Given the description of an element on the screen output the (x, y) to click on. 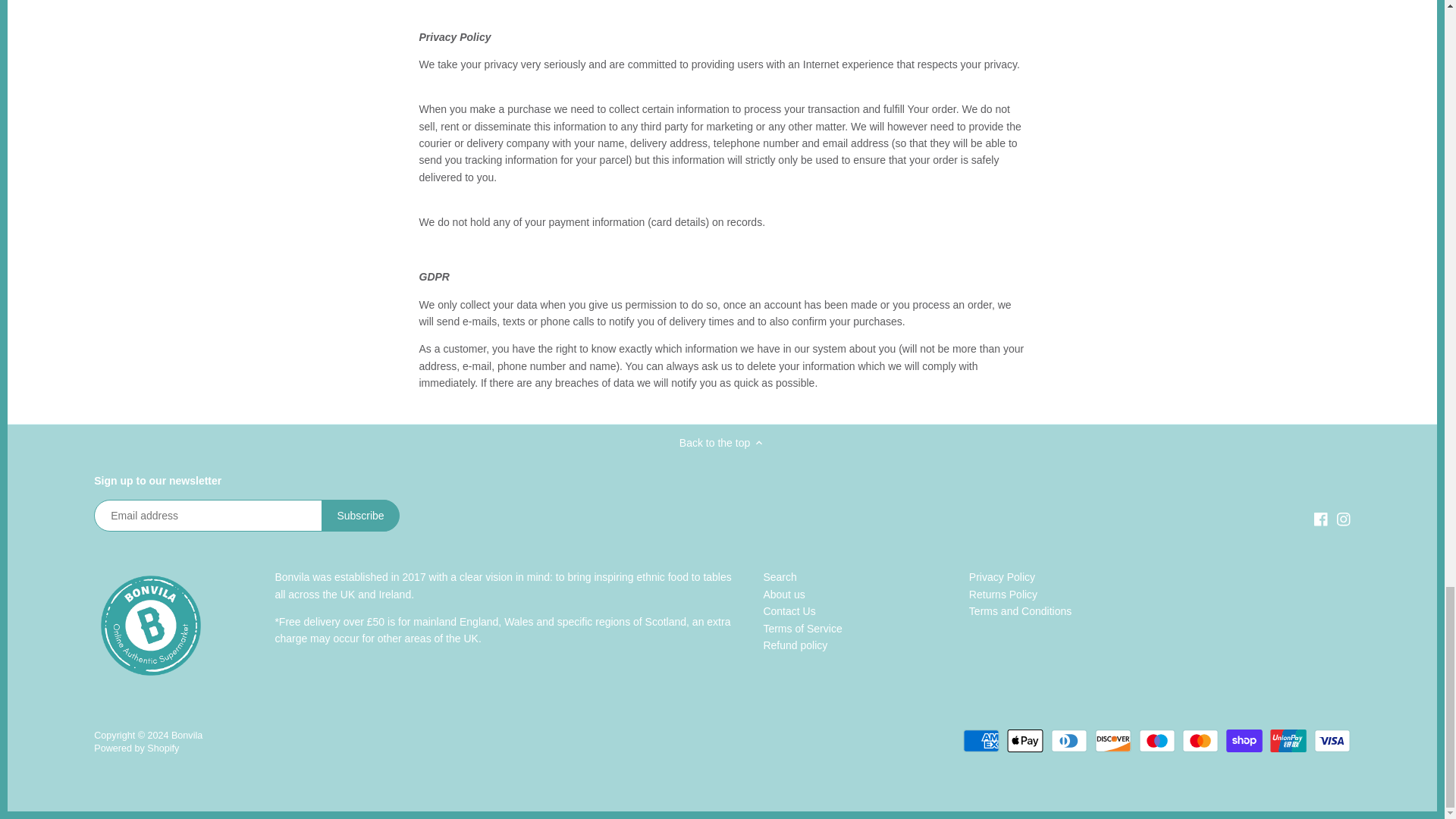
Instagram (1343, 519)
Visa (1332, 740)
Maestro (1156, 740)
Instagram (1342, 518)
American Express (980, 740)
Mastercard (1200, 740)
Union Pay (1287, 740)
Diners Club (1069, 740)
Subscribe (359, 515)
Shop Pay (1243, 740)
Facebook (1320, 519)
Discover (1112, 740)
Apple Pay (1025, 740)
Facebook (1320, 518)
